Given the description of an element on the screen output the (x, y) to click on. 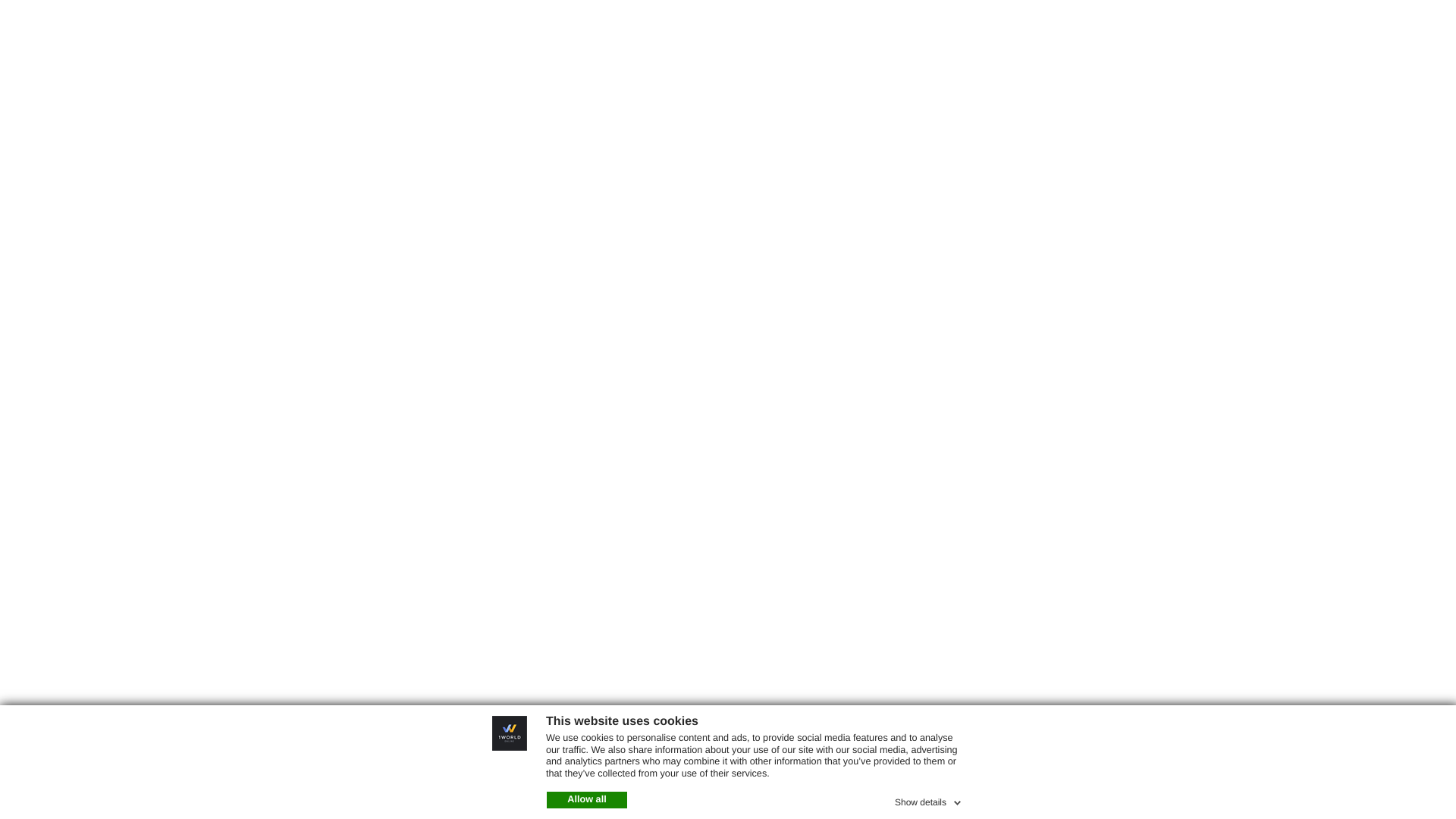
Show details Element type: text (929, 799)
Allow all Element type: text (586, 799)
